Given the description of an element on the screen output the (x, y) to click on. 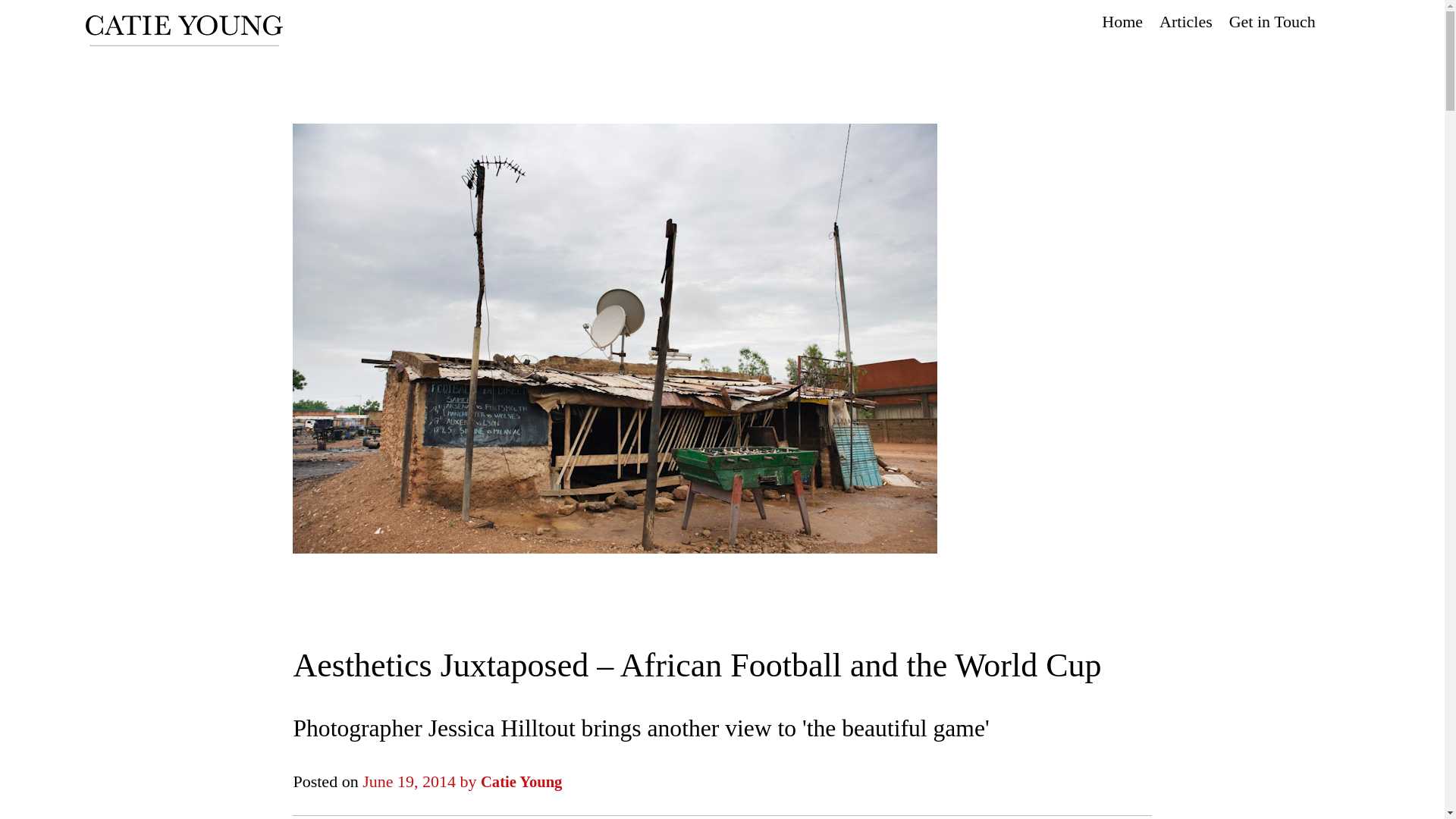
Articles (1185, 21)
June 19, 2014 (408, 781)
Home (1122, 21)
Catie Young (521, 781)
Get in Touch (1272, 21)
